Given the description of an element on the screen output the (x, y) to click on. 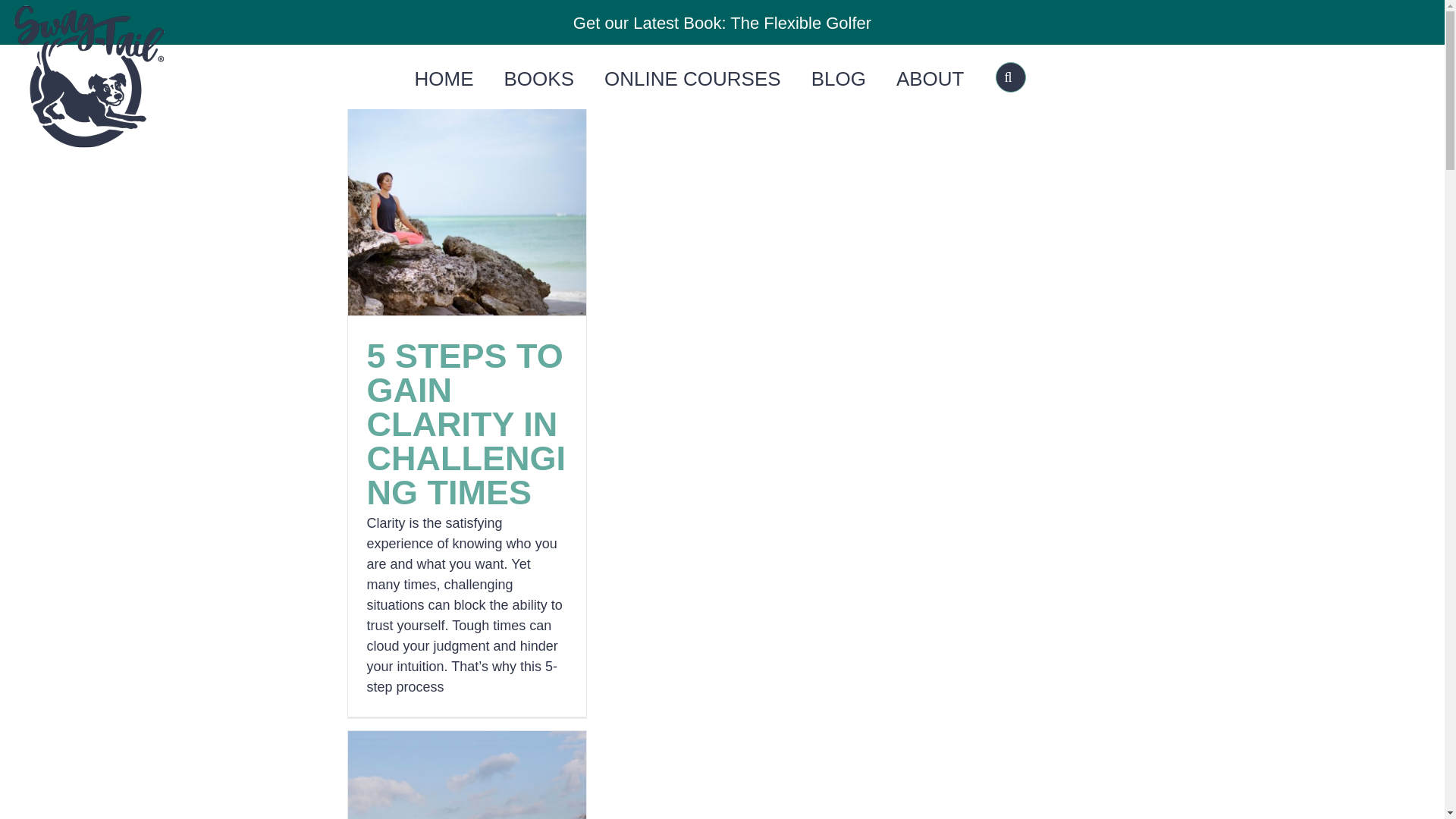
BLOG (838, 78)
BOOKS (538, 78)
Get our Latest Book: The Flexible Golfer (721, 23)
ONLINE COURSES (692, 78)
Search (1010, 77)
HOME (444, 78)
ABOUT (929, 78)
